Given the description of an element on the screen output the (x, y) to click on. 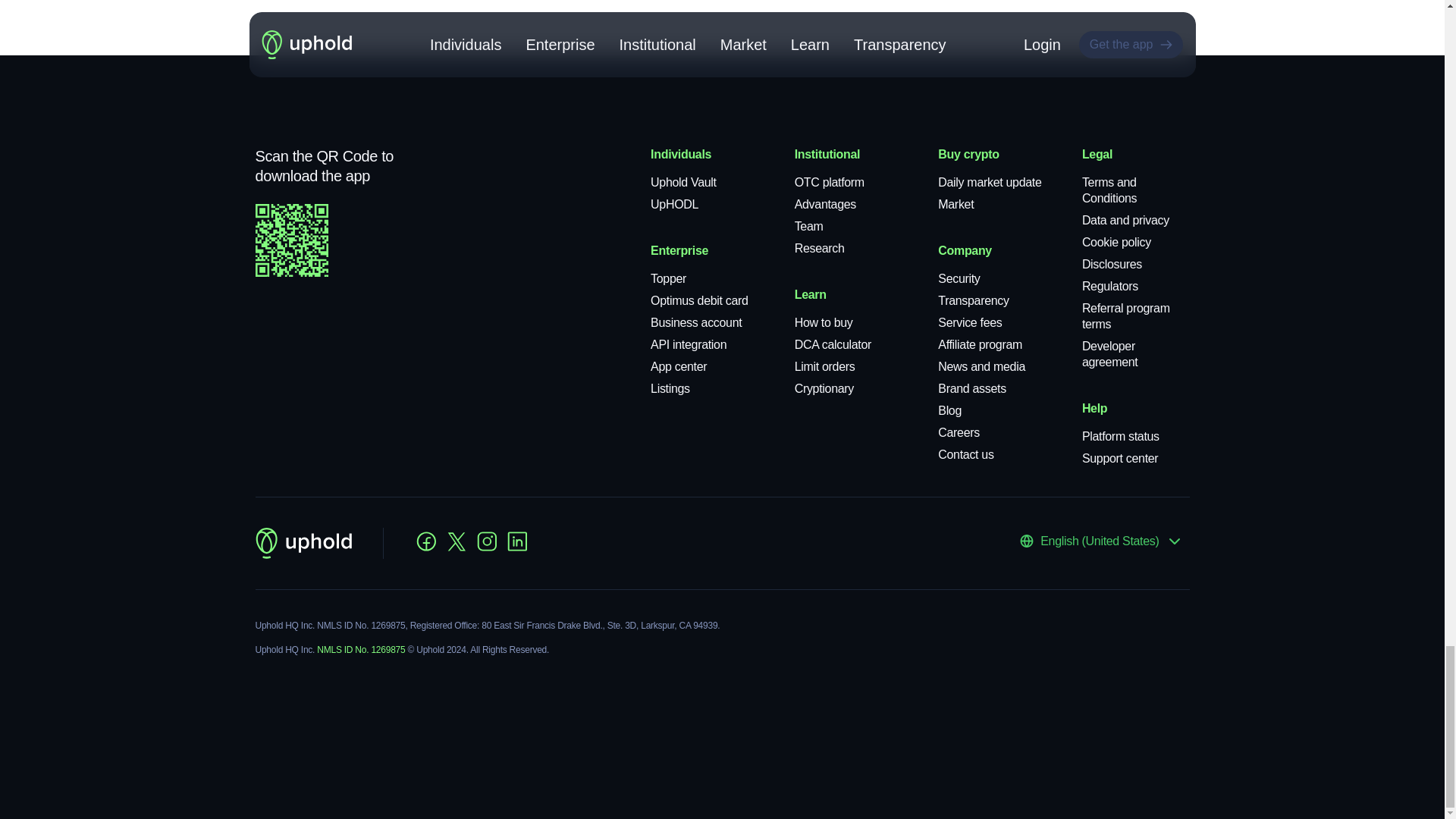
OTC platform (829, 182)
Team (809, 226)
Business account (695, 322)
Optimus debit card (699, 300)
Research (819, 247)
Advantages (825, 204)
Learn (810, 294)
Individuals (680, 154)
UpHODL (674, 204)
API integration (688, 344)
Institutional (827, 154)
Topper (667, 278)
Enterprise (678, 250)
Uphold Vault (683, 182)
App center (678, 366)
